Given the description of an element on the screen output the (x, y) to click on. 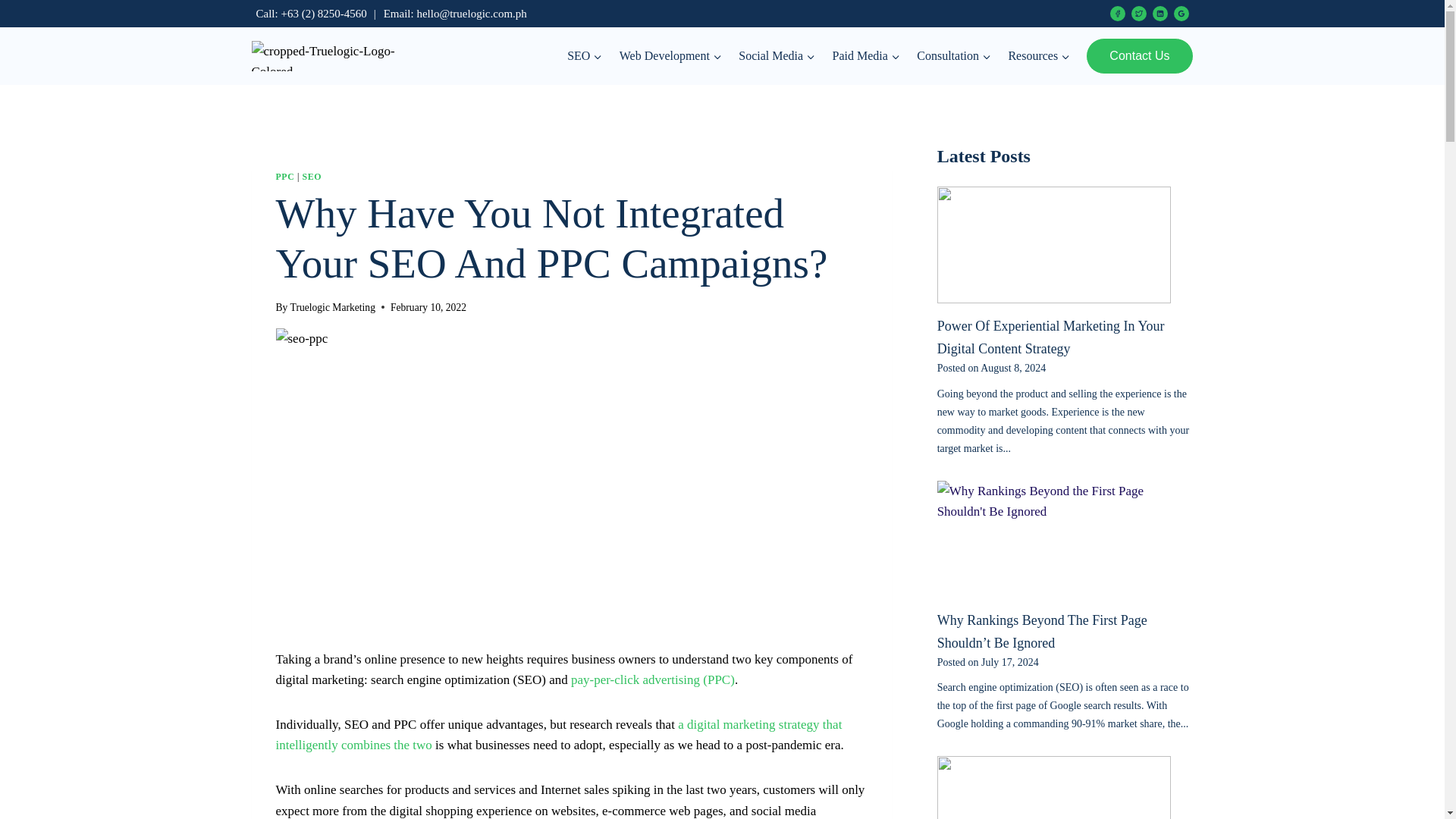
Resources (1038, 56)
Web Development (670, 56)
SEO (585, 56)
Paid Media (866, 56)
Social Media (777, 56)
Consultation (953, 56)
